Given the description of an element on the screen output the (x, y) to click on. 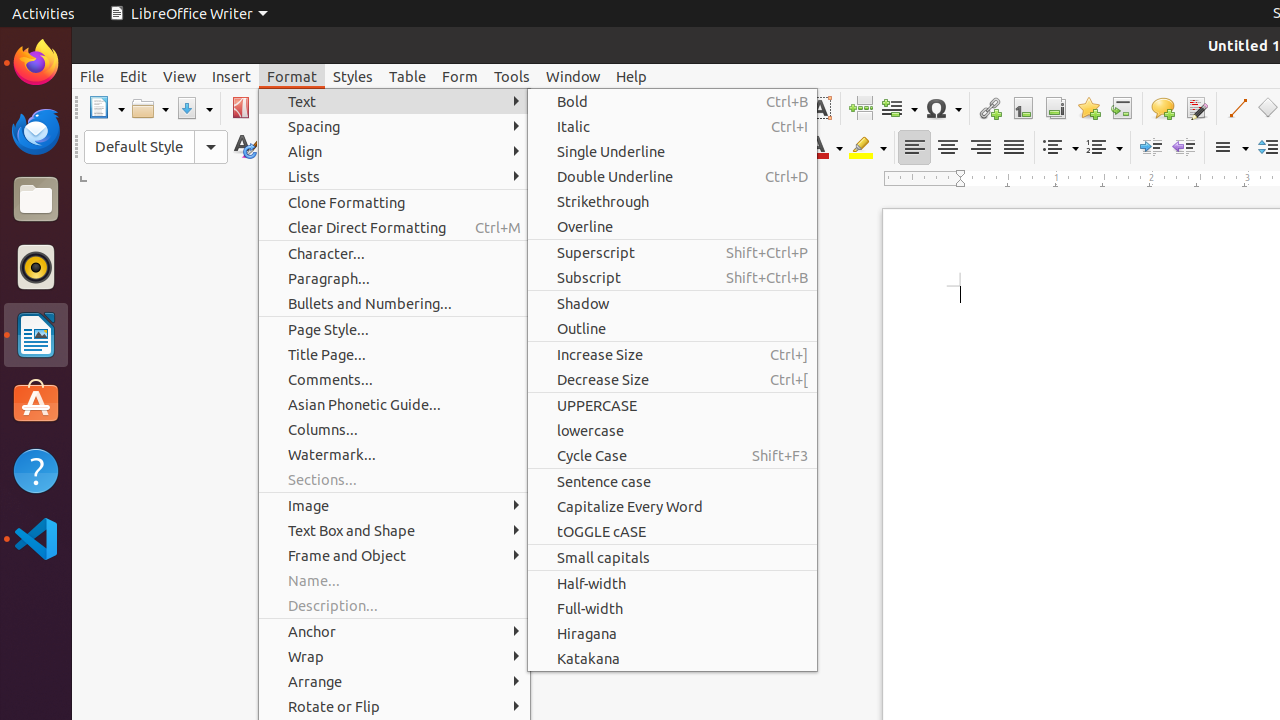
Highlight Color Element type: push-button (868, 147)
Bookmark Element type: push-button (1088, 108)
Edit Element type: menu (133, 76)
Center Element type: toggle-button (947, 147)
Image Element type: menu (394, 505)
